Given the description of an element on the screen output the (x, y) to click on. 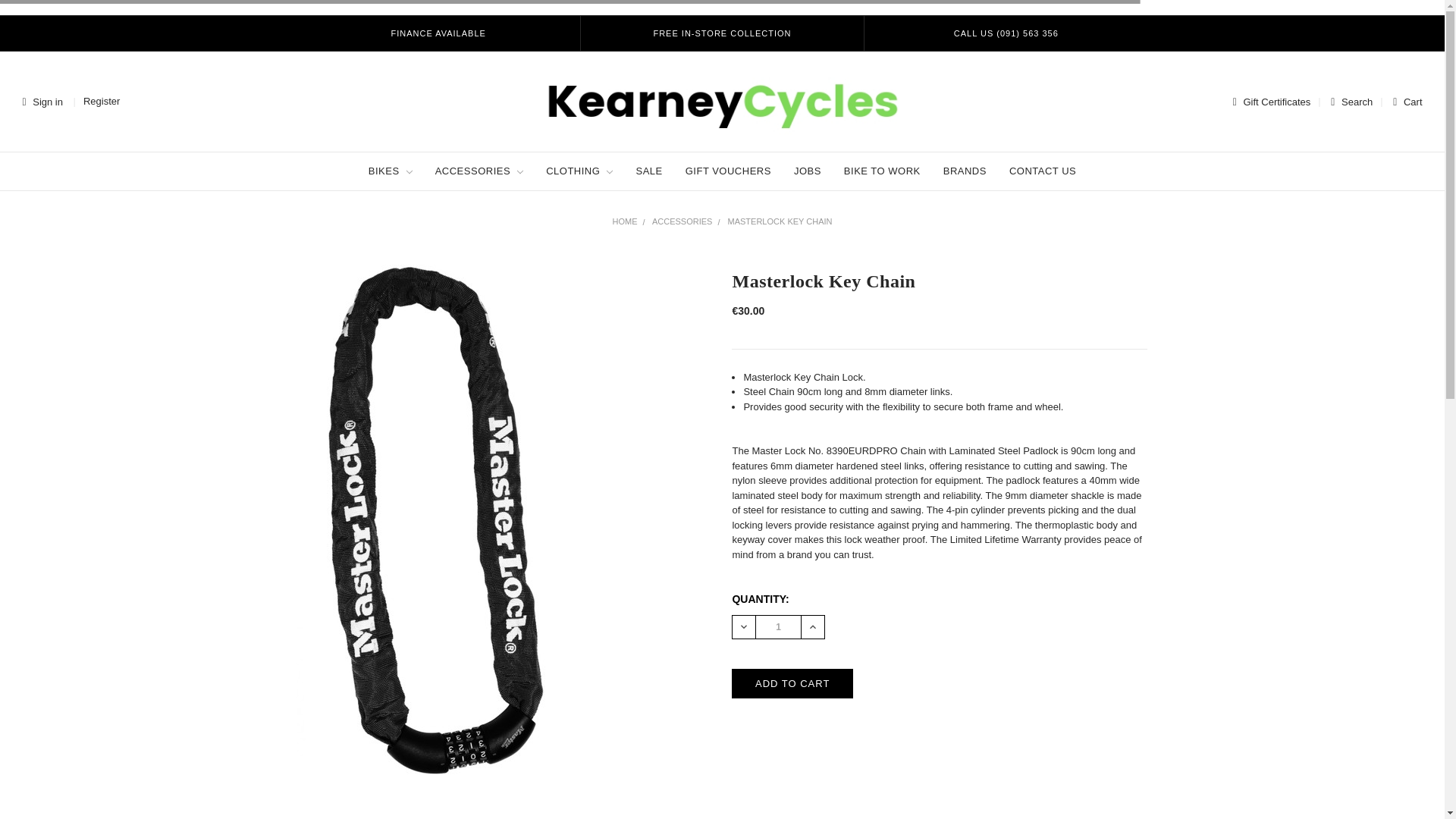
CLOTHING (579, 171)
Sign in (41, 101)
Gift Certificates (1272, 101)
Cart (1404, 101)
ACCESSORIES (479, 171)
SALE (648, 171)
Kearney Cycles (721, 101)
Add to Cart (791, 683)
Register (101, 101)
Search (1348, 101)
1 (777, 626)
BIKES (389, 171)
